Given the description of an element on the screen output the (x, y) to click on. 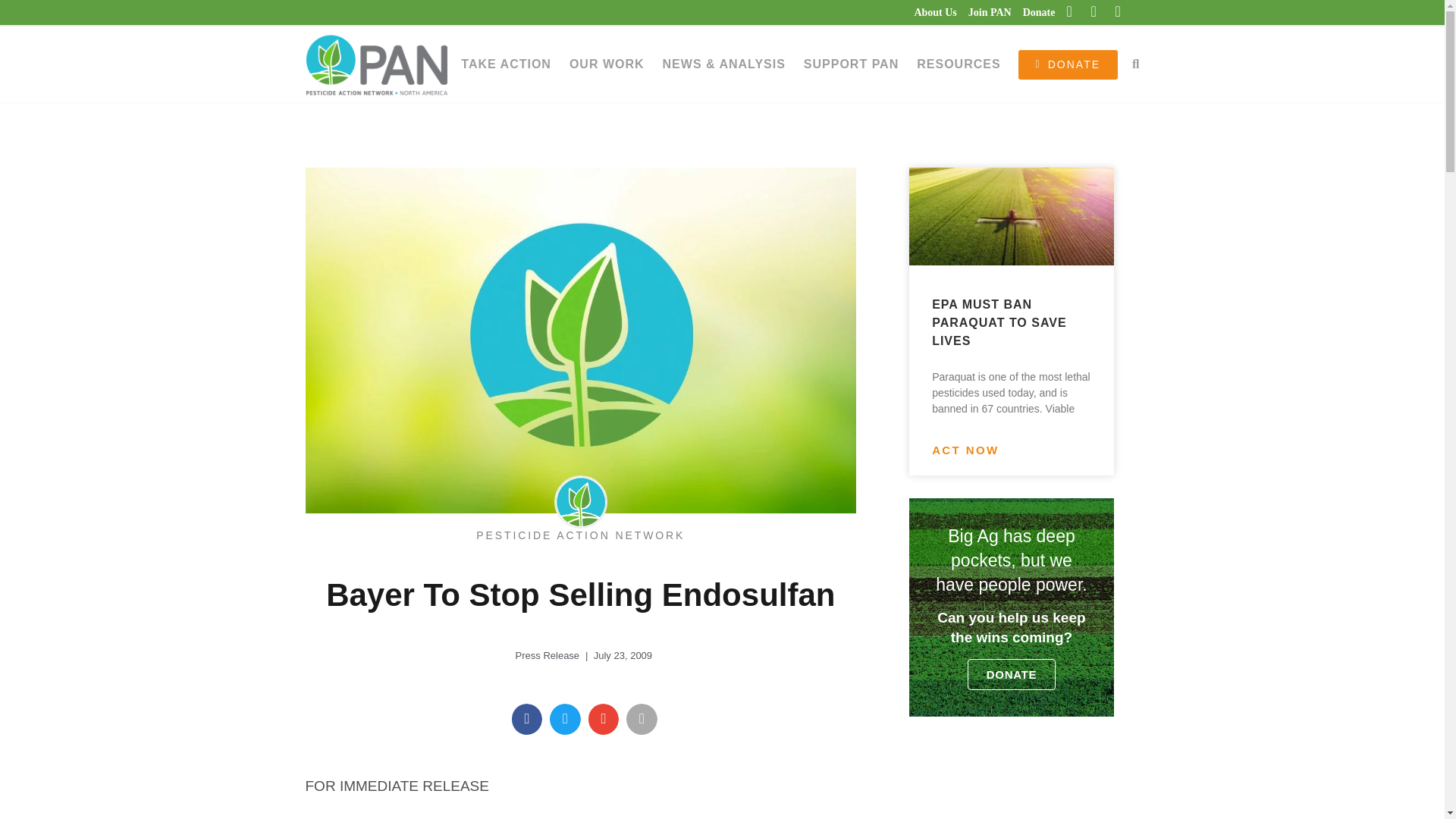
RESOURCES (958, 64)
Donate (1033, 12)
TAKE ACTION (505, 64)
About Us (929, 12)
Join PAN (983, 12)
DONATE (1067, 63)
SUPPORT PAN (850, 64)
OUR WORK (606, 64)
